Given the description of an element on the screen output the (x, y) to click on. 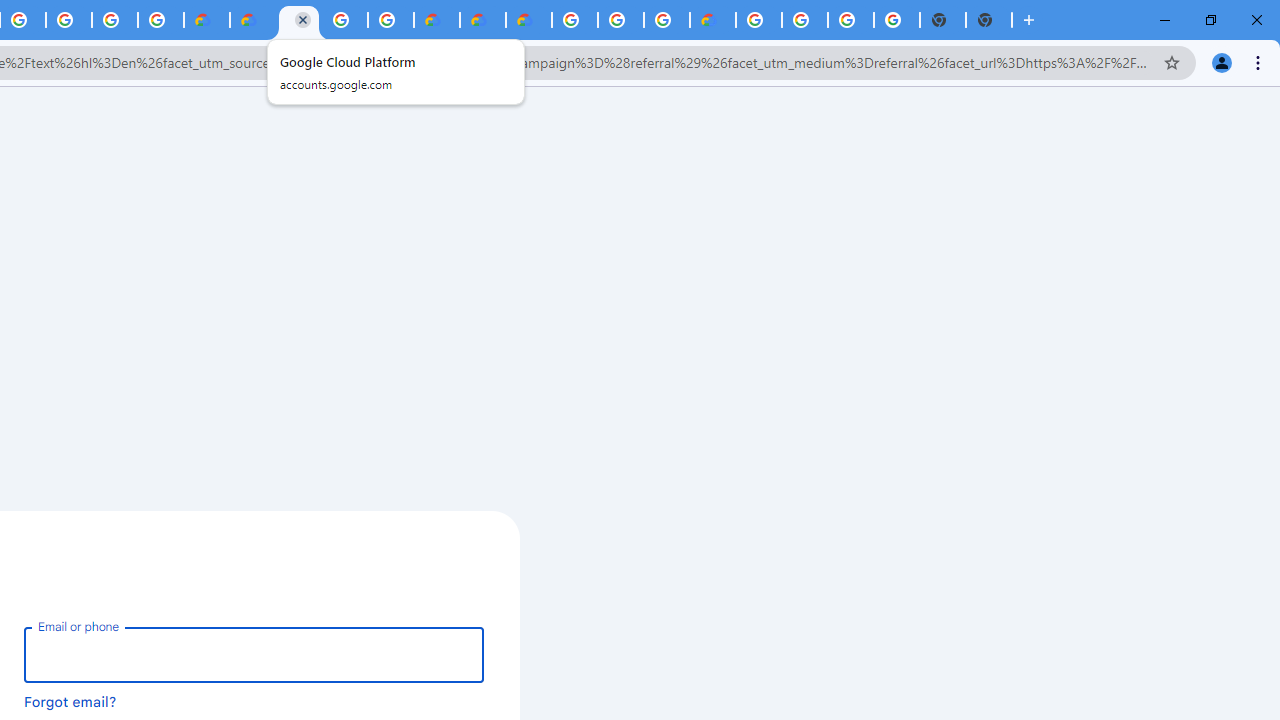
Forgot email? (70, 701)
Google Cloud Platform (805, 20)
Browse Chrome as a guest - Computer - Google Chrome Help (620, 20)
Customer Care | Google Cloud (207, 20)
New Tab (989, 20)
Google Cloud Platform (759, 20)
Browse Chrome as a guest - Computer - Google Chrome Help (666, 20)
Google Cloud Pricing Calculator (482, 20)
Google Workspace - Specific Terms (115, 20)
Email or phone (253, 654)
